Given the description of an element on the screen output the (x, y) to click on. 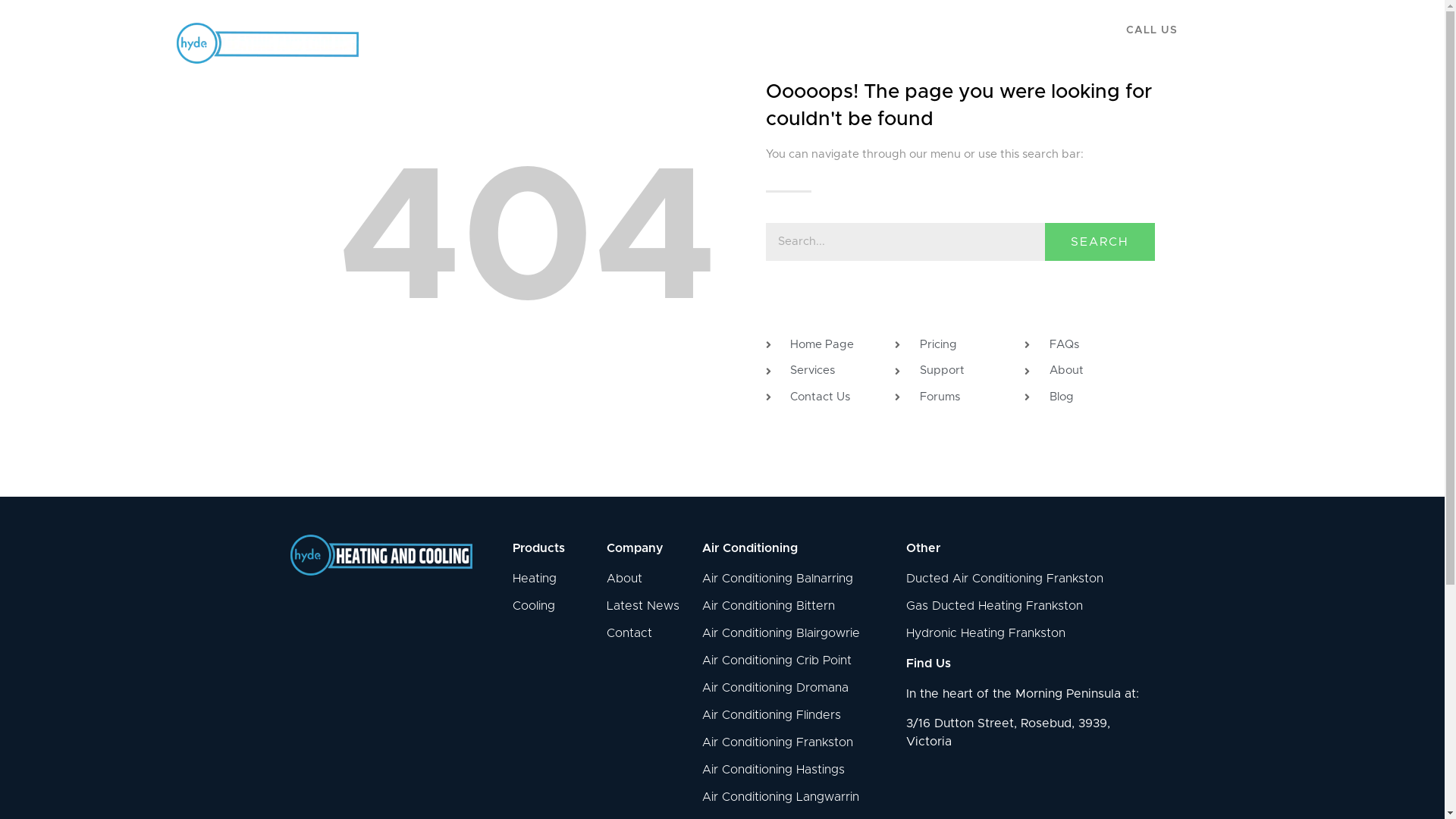
(03) 5910 5011 Element type: text (1185, 45)
About Element type: text (646, 578)
SEARCH Element type: text (1099, 241)
HEATING Element type: text (690, 39)
Cooling Element type: text (543, 605)
Hydronic Heating Frankston Element type: text (1026, 633)
Air Conditioning Crib Point Element type: text (796, 660)
Contact Element type: text (646, 633)
Air Conditioning Hastings Element type: text (796, 769)
Air Conditioning Blairgowrie Element type: text (796, 633)
Gas Ducted Heating Frankston Element type: text (1026, 605)
Air Conditioning Langwarrin Element type: text (796, 796)
Latest News Element type: text (646, 605)
Ducted Air Conditioning Frankston Element type: text (1026, 578)
HOME Element type: text (613, 39)
Air Conditioning Balnarring Element type: text (796, 578)
CONTACT US Element type: text (1045, 39)
CAREERS Element type: text (954, 39)
Air Conditioning Bittern Element type: text (796, 605)
Air Conditioning Flinders Element type: text (796, 715)
Heating Element type: text (543, 578)
Air Conditioning Frankston Element type: text (796, 742)
Air Conditioning Dromana Element type: text (796, 687)
ABOUT Element type: text (873, 39)
COOLING Element type: text (784, 39)
